Given the description of an element on the screen output the (x, y) to click on. 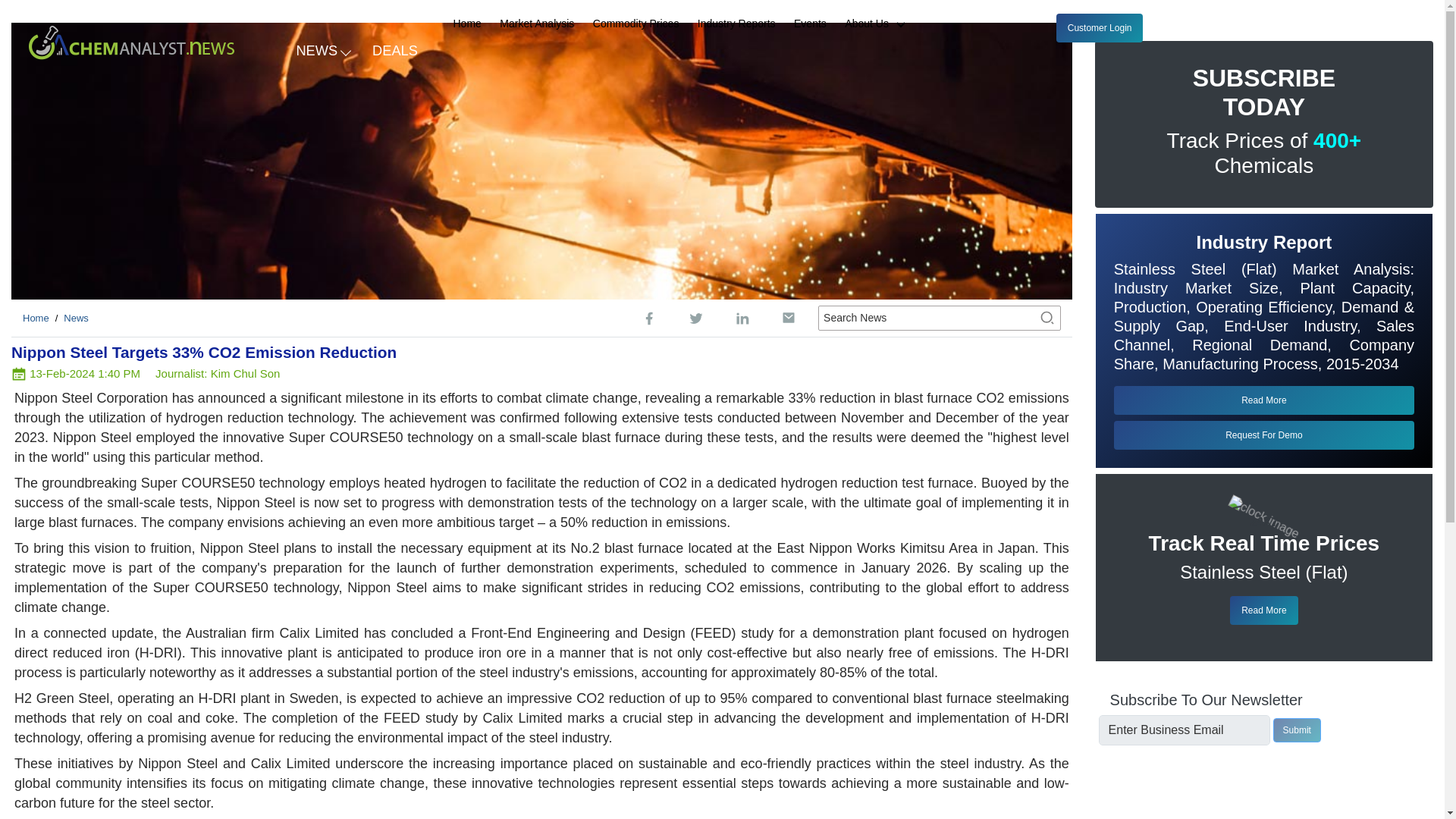
Submit (1296, 730)
Industry Reports (736, 23)
Customer Login (1099, 27)
Home (467, 23)
About Us (880, 24)
Commodity Prices (636, 23)
Events (810, 23)
Home (36, 317)
Market Analysis (536, 23)
DEALS (395, 49)
NEWS (322, 49)
